Given the description of an element on the screen output the (x, y) to click on. 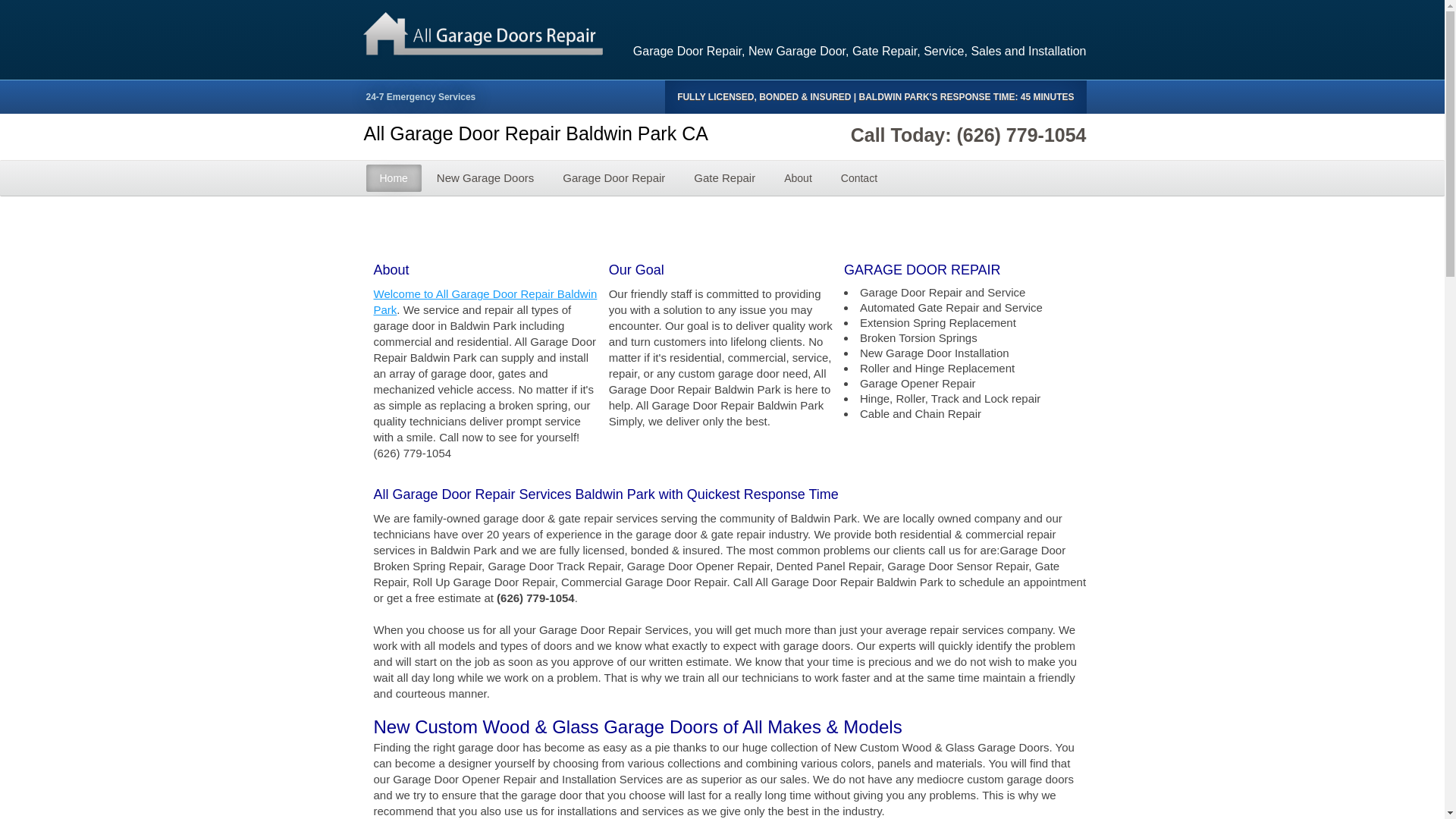
Garage Door Repair (613, 177)
New Garage Doors (485, 177)
Contact (859, 177)
Welcome to All Garage Door Repair Baldwin Park (484, 301)
Gate Repair (723, 177)
About (797, 177)
Home (392, 177)
